Given the description of an element on the screen output the (x, y) to click on. 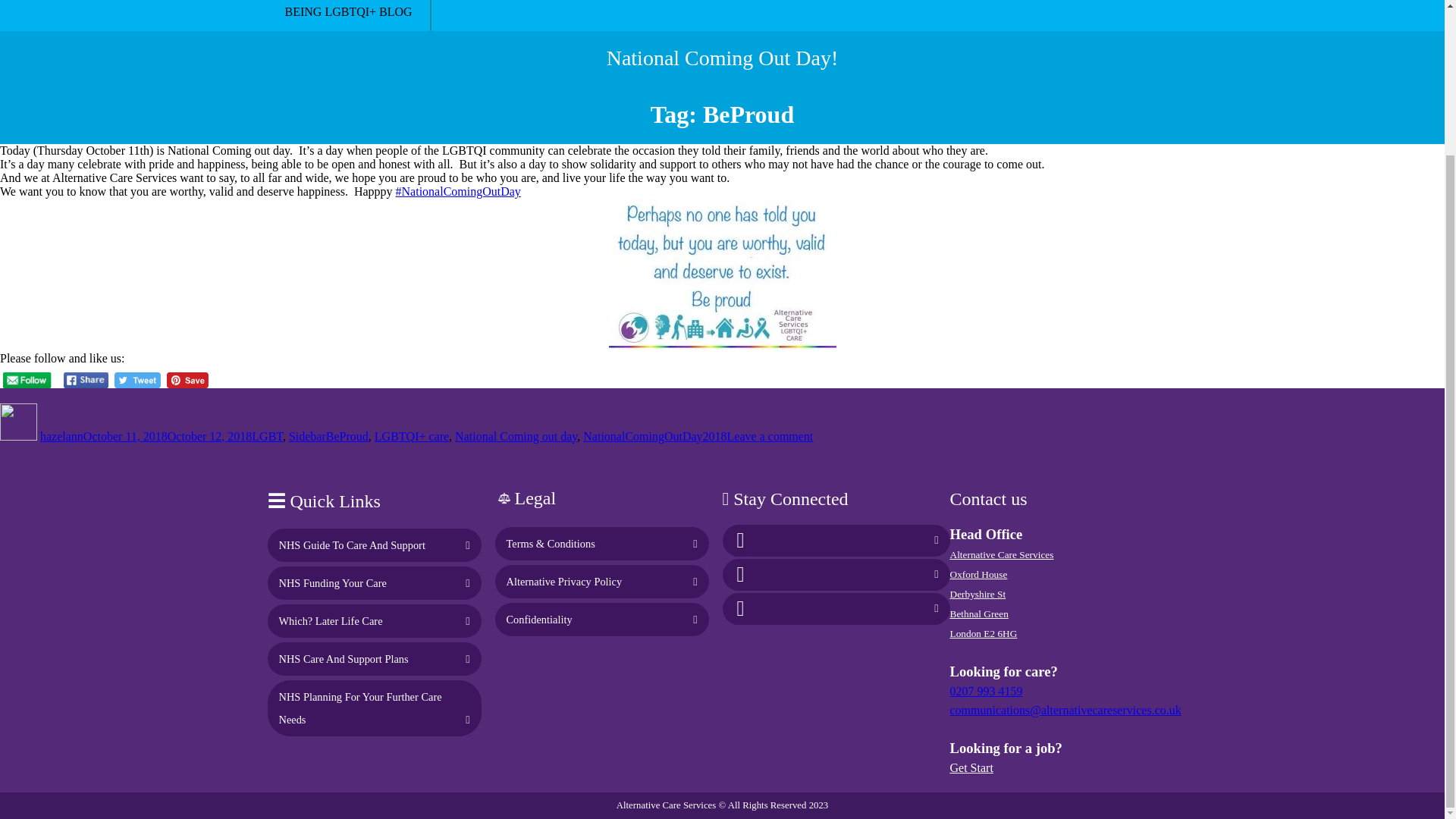
twitter.com (741, 574)
NHS Guide To Care And Support (352, 544)
October 11, 2018October 12, 2018 (166, 436)
Which? Later Life Care (330, 621)
hazelann (61, 436)
LGBT (266, 436)
Sidebar (307, 436)
mail (741, 608)
Pin Share (187, 380)
Confidentiality (539, 619)
